Given the description of an element on the screen output the (x, y) to click on. 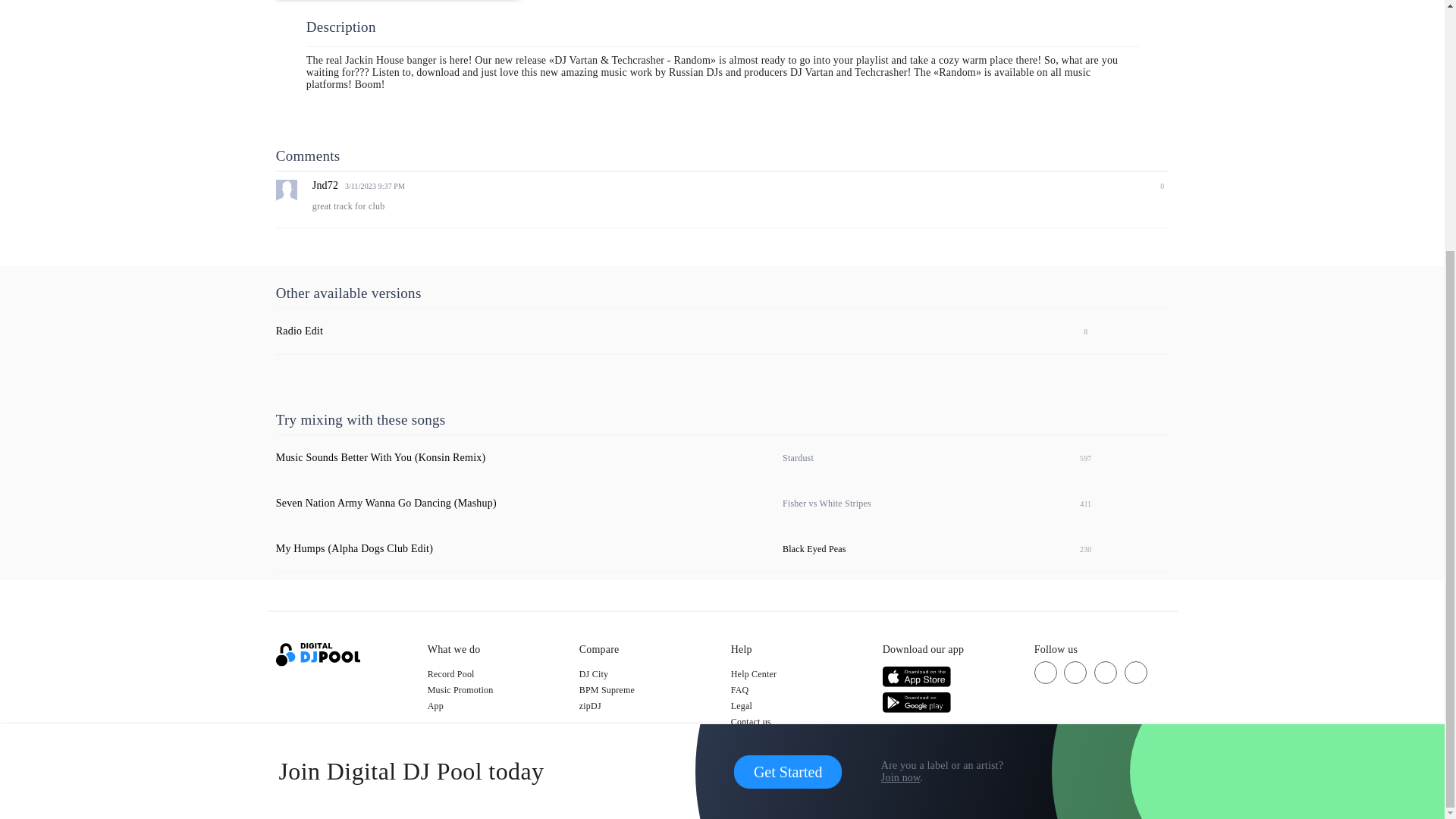
Radio Edit (299, 330)
Twitter (1075, 671)
411 (1077, 503)
Facebook (1045, 671)
Black Eyed Peas (814, 548)
Youtube (1135, 671)
Jnd72 (325, 184)
8 (1077, 331)
597 (1077, 458)
Join now (900, 424)
